Given the description of an element on the screen output the (x, y) to click on. 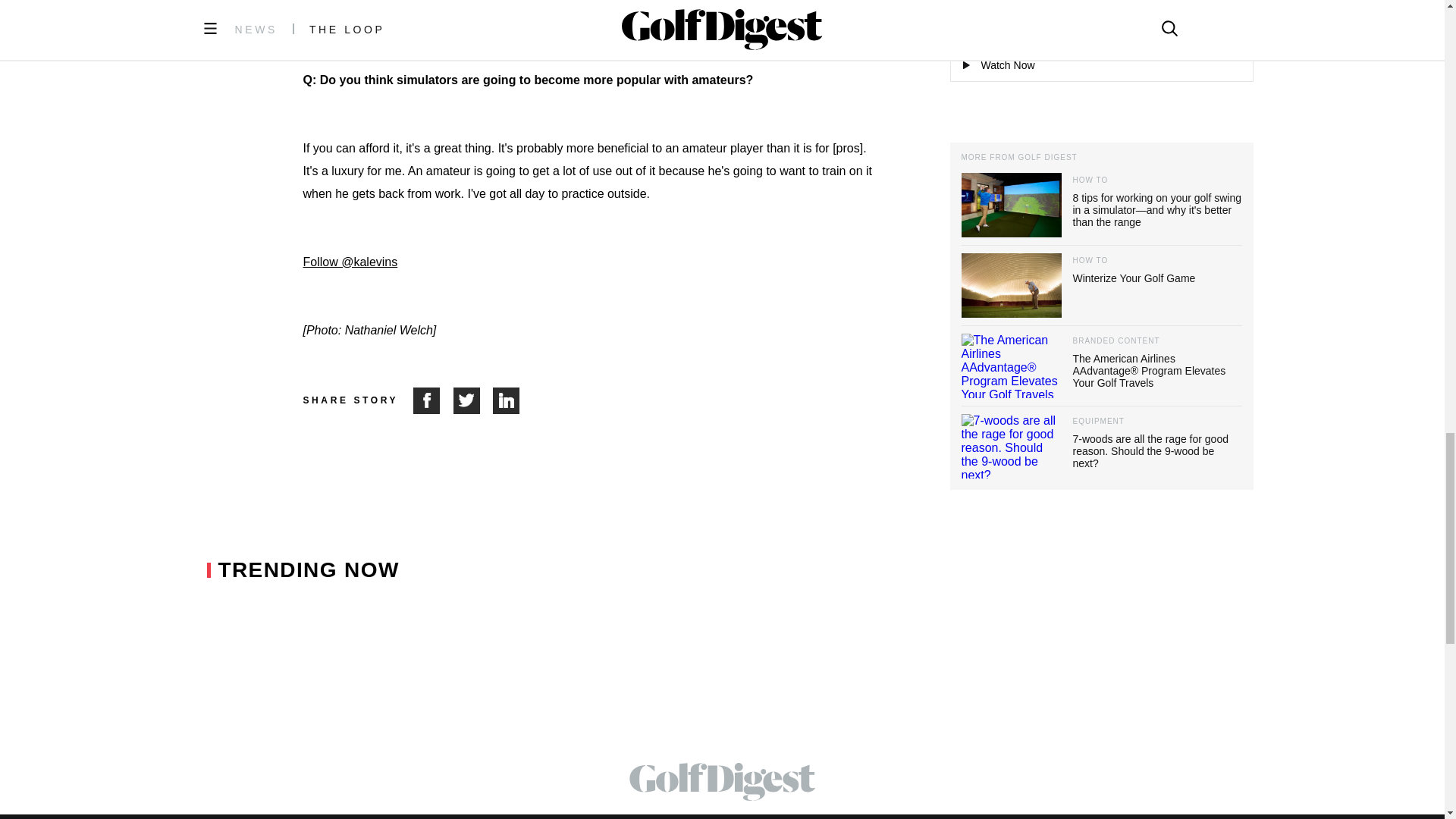
Share on LinkedIn (506, 400)
Share on Facebook (432, 400)
Share on Twitter (472, 400)
